Given the description of an element on the screen output the (x, y) to click on. 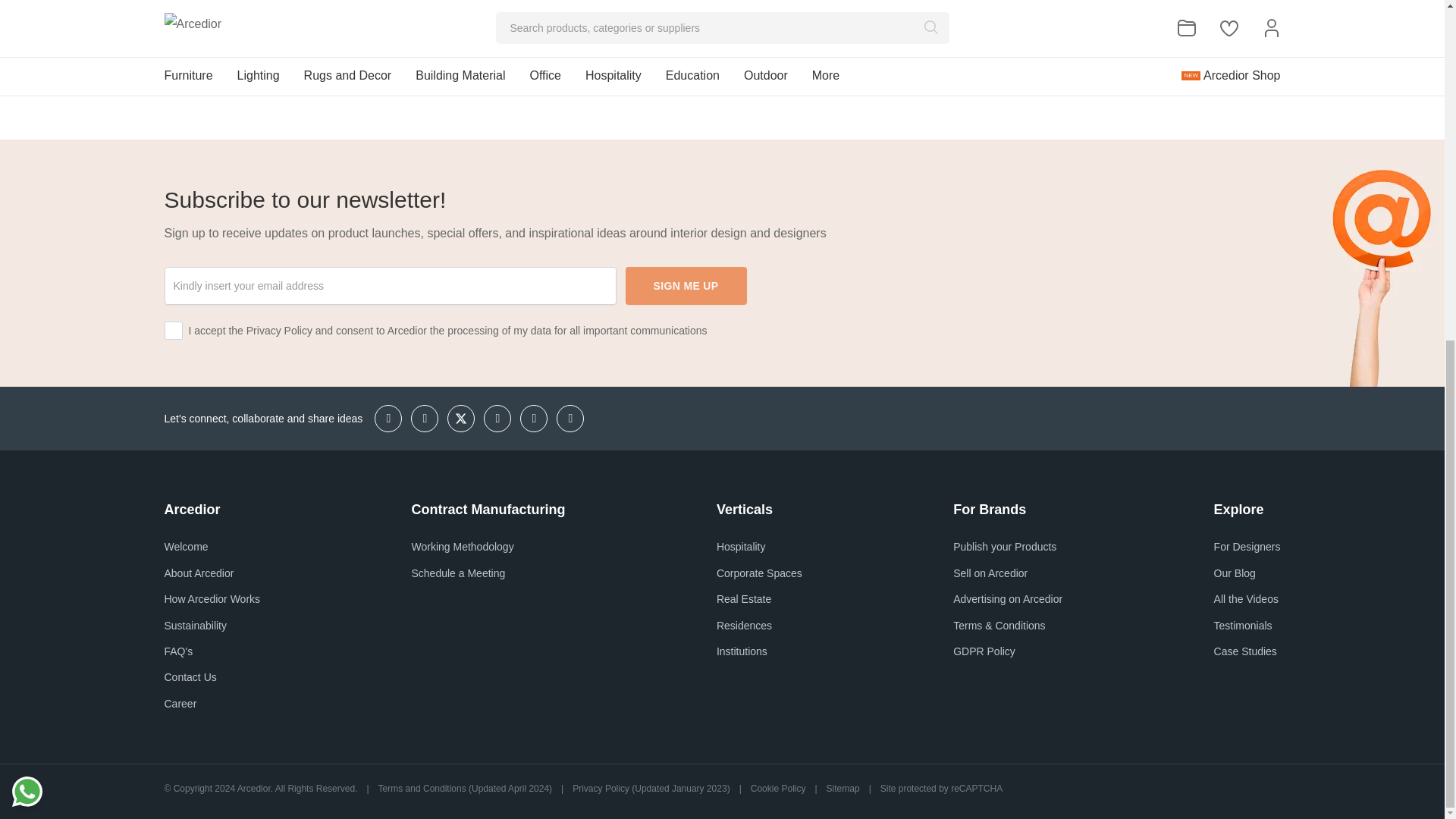
instagram (387, 418)
facebook (424, 418)
on (172, 330)
